Given the description of an element on the screen output the (x, y) to click on. 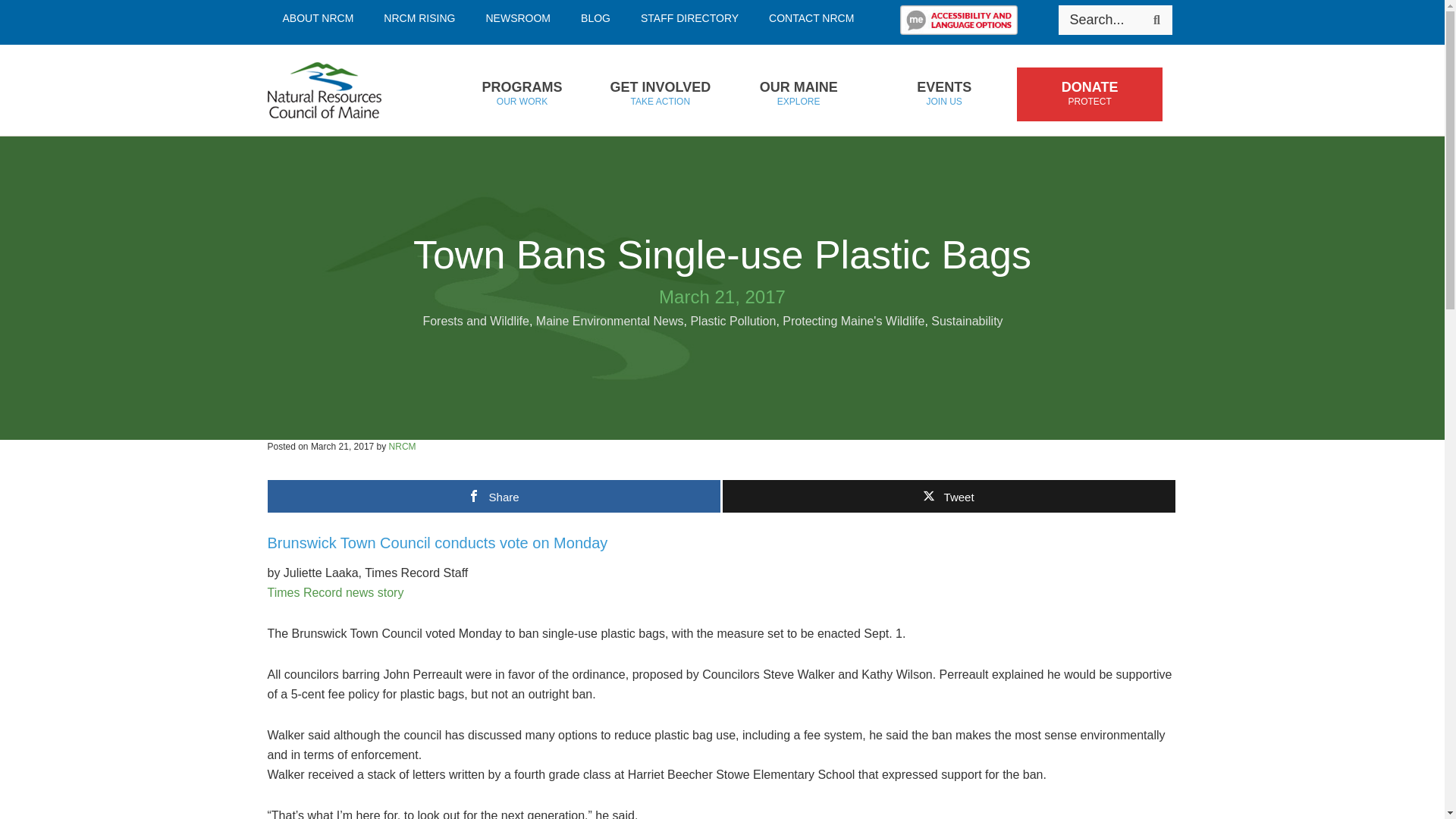
Search (521, 94)
ABOUT NRCM (1156, 19)
STAFF DIRECTORY (317, 18)
CONTACT NRCM (690, 18)
Natural Resources Council of Maine (811, 18)
Skip to primary navigation (347, 90)
